Given the description of an element on the screen output the (x, y) to click on. 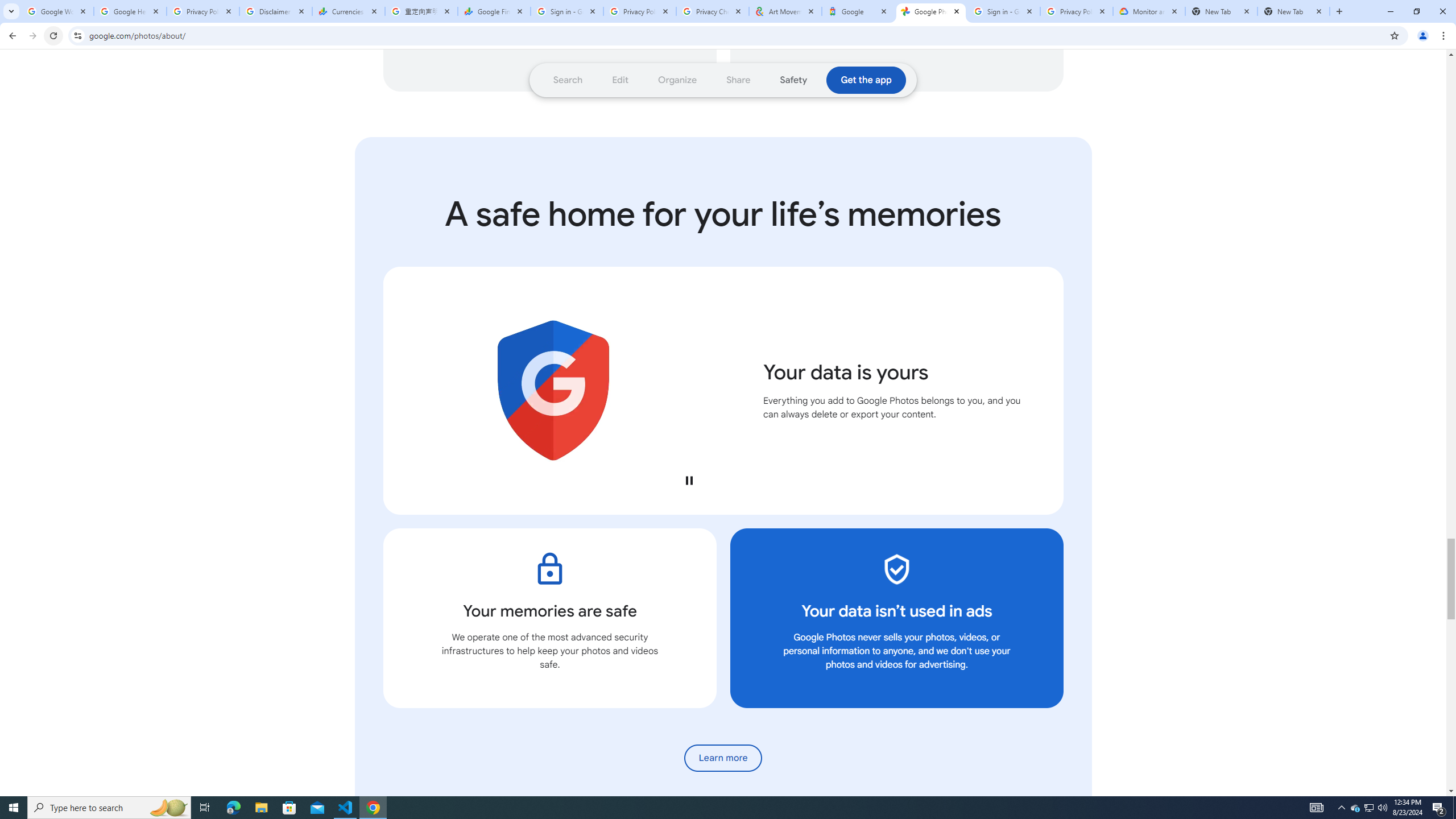
Download the Google Photos app (866, 80)
Sign in - Google Accounts (566, 11)
New Tab (1221, 11)
Sign in - Google Accounts (1003, 11)
Currencies - Google Finance (348, 11)
Go to section: Edit (620, 80)
Go to section: Search (567, 80)
